Given the description of an element on the screen output the (x, y) to click on. 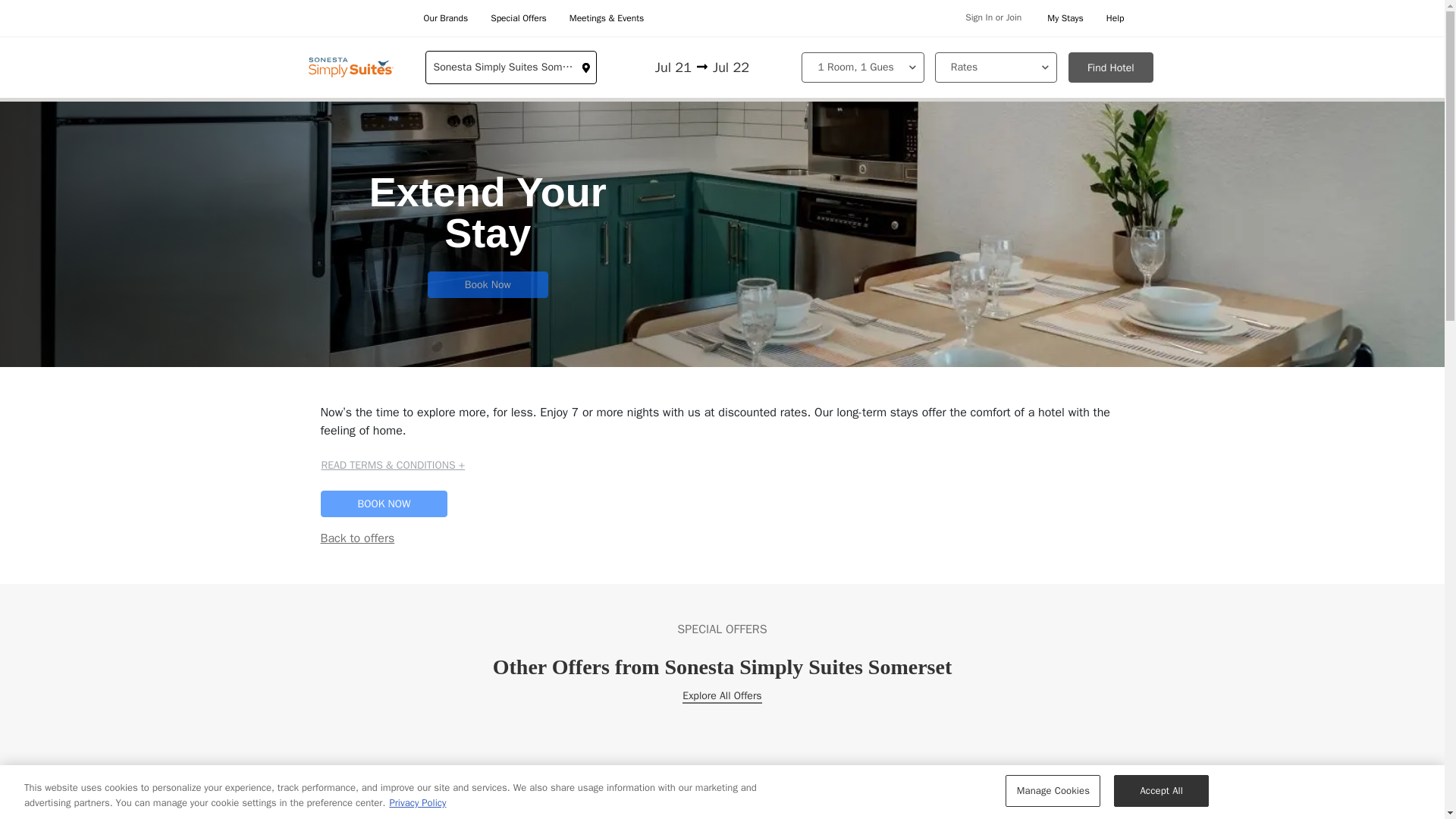
Jul 21 (657, 67)
My Stays (1064, 18)
Explore All Offers (721, 696)
Special Offers (518, 18)
Our Brands (445, 18)
Jul 22 (747, 67)
Rates (995, 67)
1 Room, 1 Guest (862, 67)
Find Hotel (1110, 67)
Back to offers (357, 538)
Sonesta Simply Suites Somerset (510, 67)
Sign In or Join (993, 18)
BOOK NOW (383, 503)
Help (1115, 18)
